Given the description of an element on the screen output the (x, y) to click on. 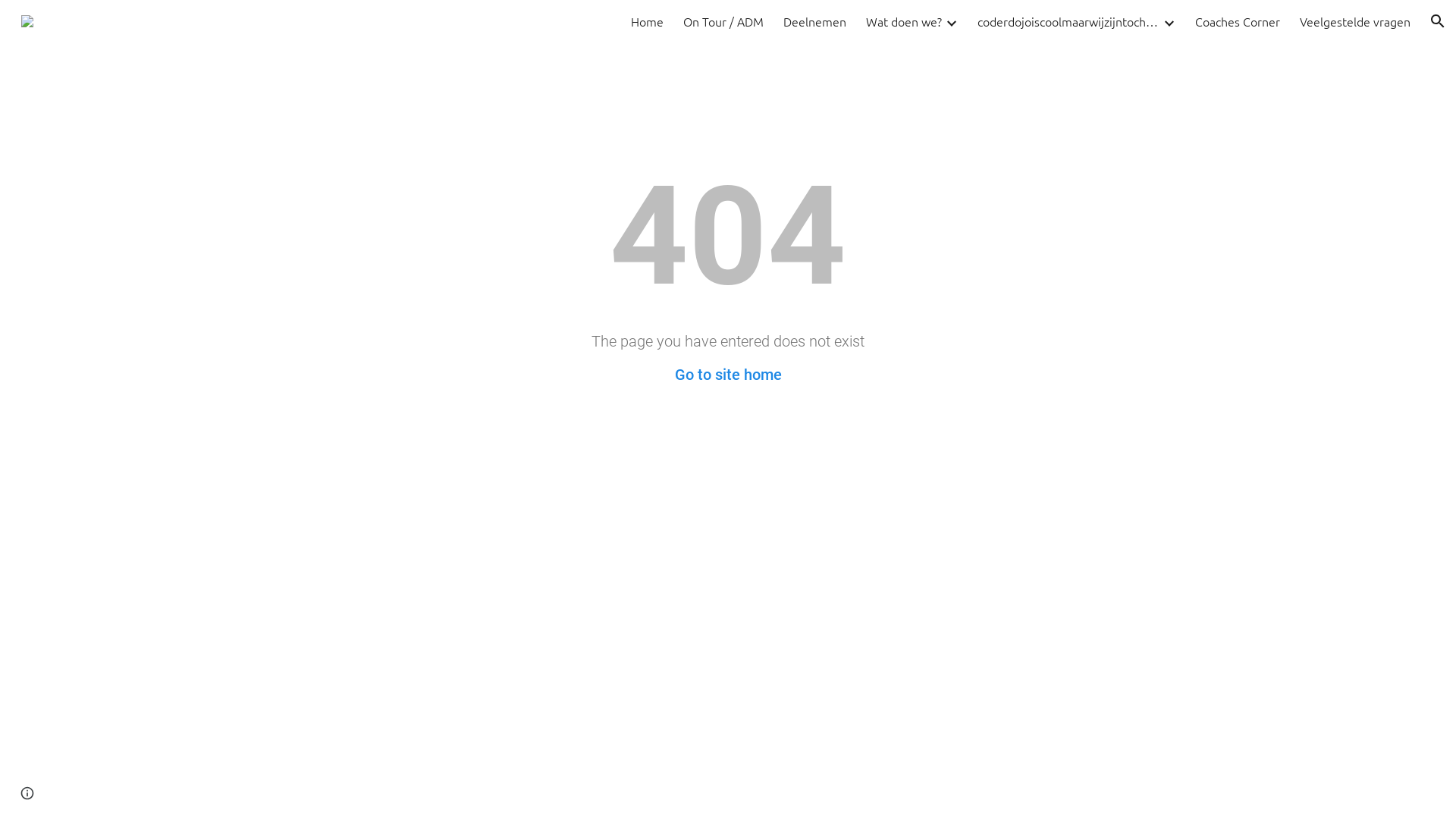
Expand/Collapse Element type: hover (1168, 20)
Deelnemen Element type: text (814, 20)
Expand/Collapse Element type: hover (950, 20)
Go to site home Element type: text (727, 374)
Home Element type: text (646, 20)
Veelgestelde vragen Element type: text (1354, 20)
coderdojoiscoolmaarwijzijntochdecoolste Element type: text (1068, 20)
Coaches Corner Element type: text (1237, 20)
Wat doen we? Element type: text (903, 20)
On Tour / ADM Element type: text (723, 20)
